Given the description of an element on the screen output the (x, y) to click on. 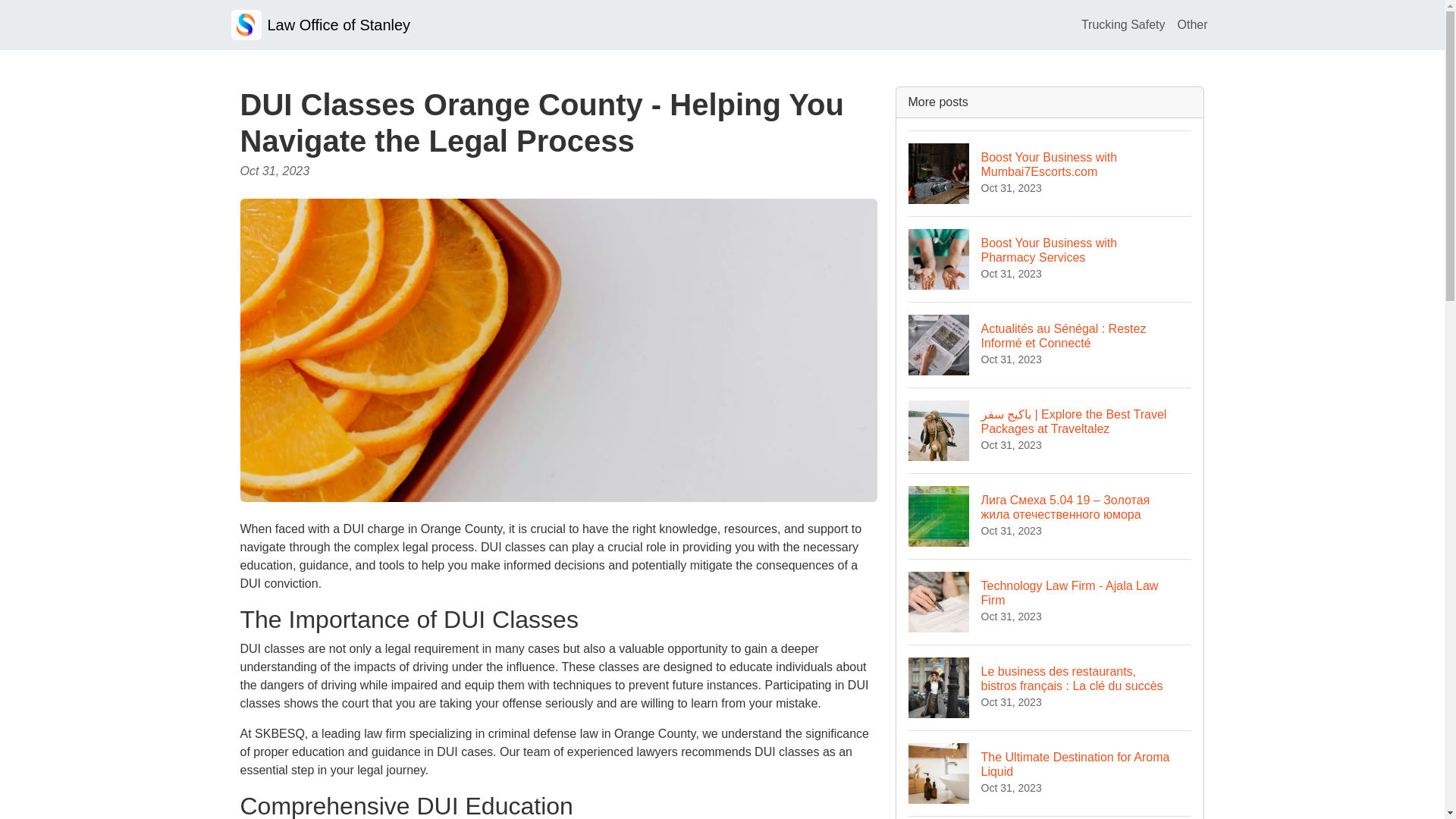
Law Office of Stanley (320, 24)
Trucking Safety (1050, 259)
Other (1123, 24)
